Given the description of an element on the screen output the (x, y) to click on. 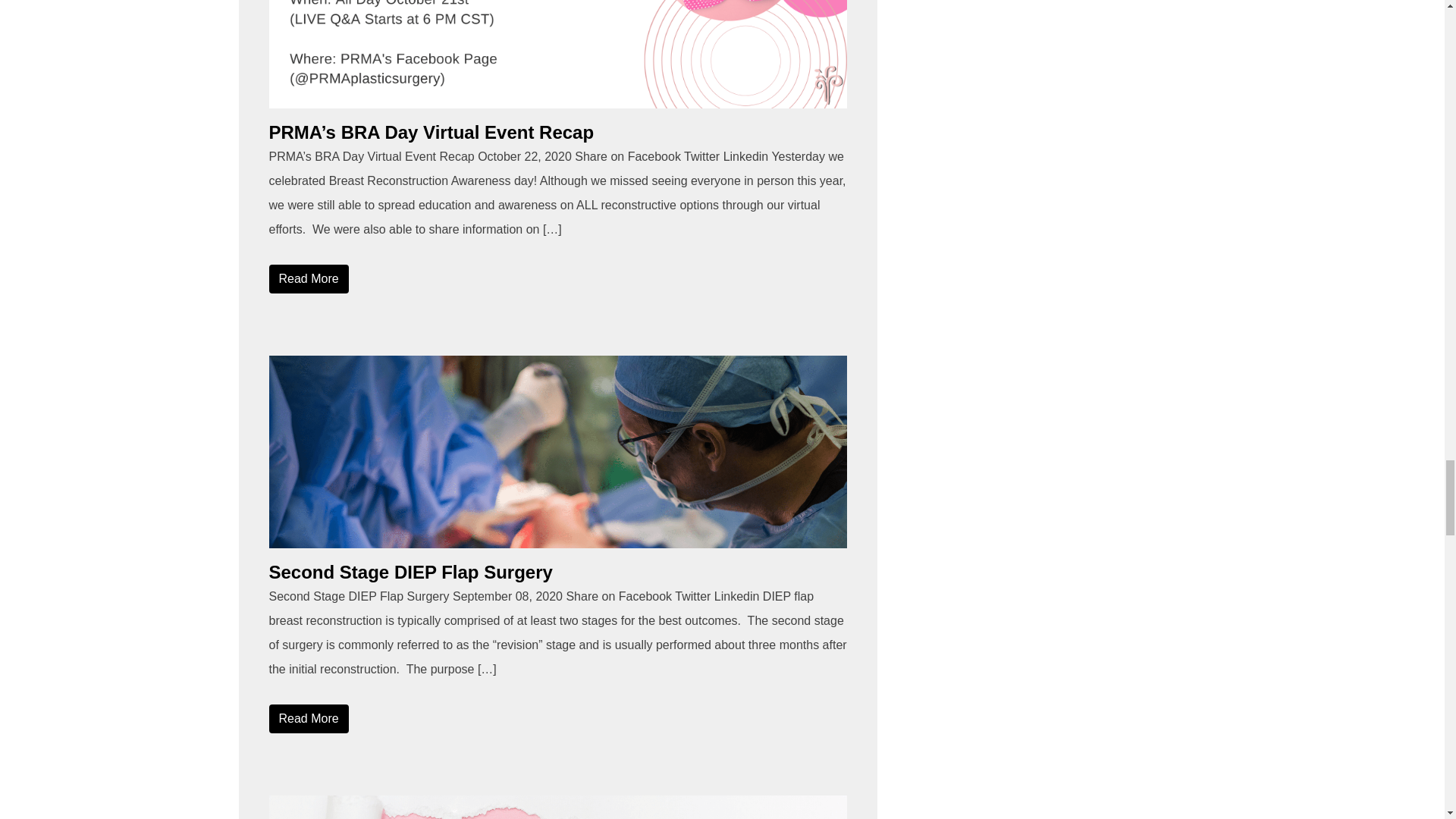
Second Stage DIEP Flap Surgery (557, 451)
bra day 2020 (557, 54)
